Given the description of an element on the screen output the (x, y) to click on. 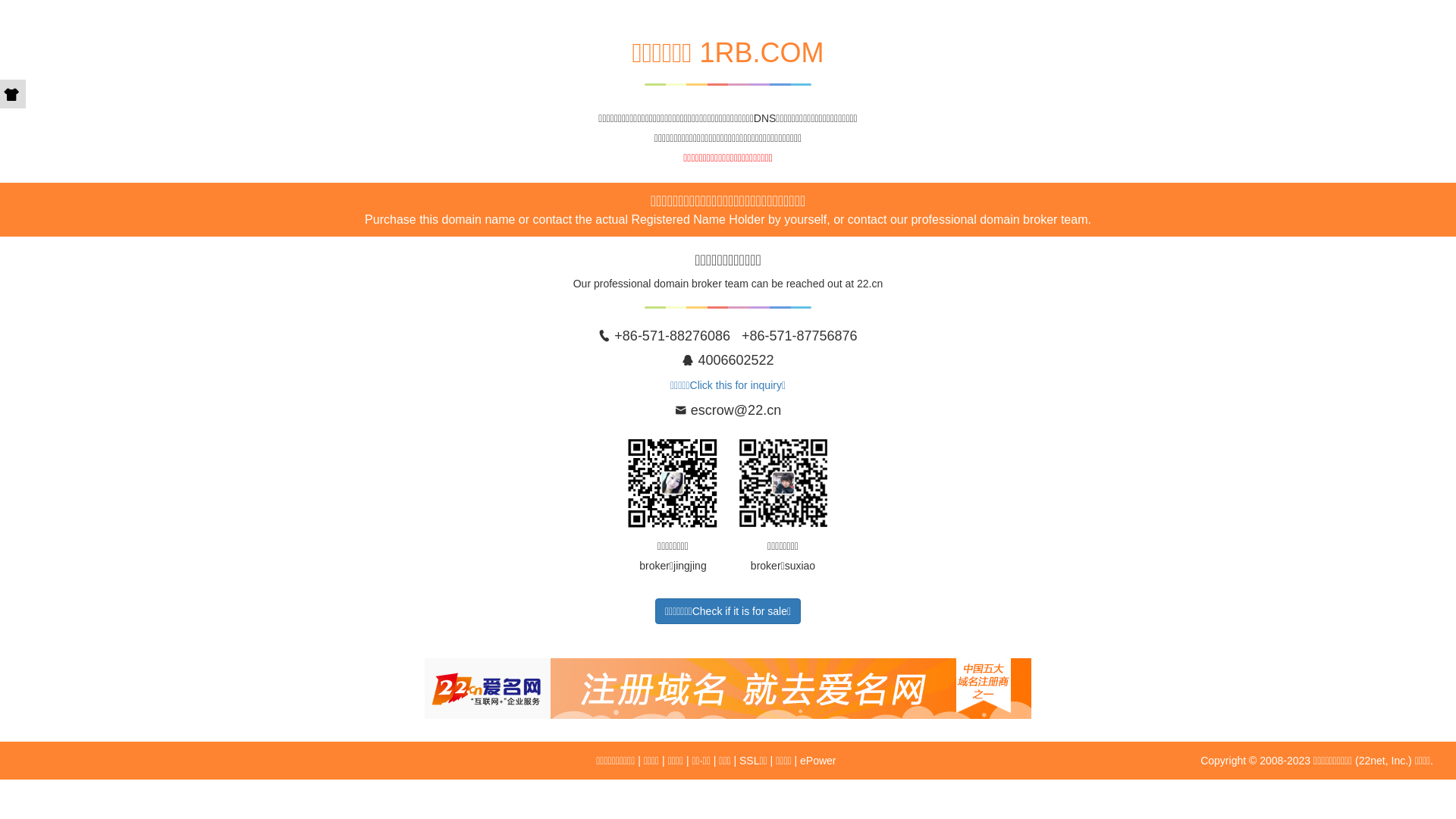
ePower Element type: text (817, 760)
